Given the description of an element on the screen output the (x, y) to click on. 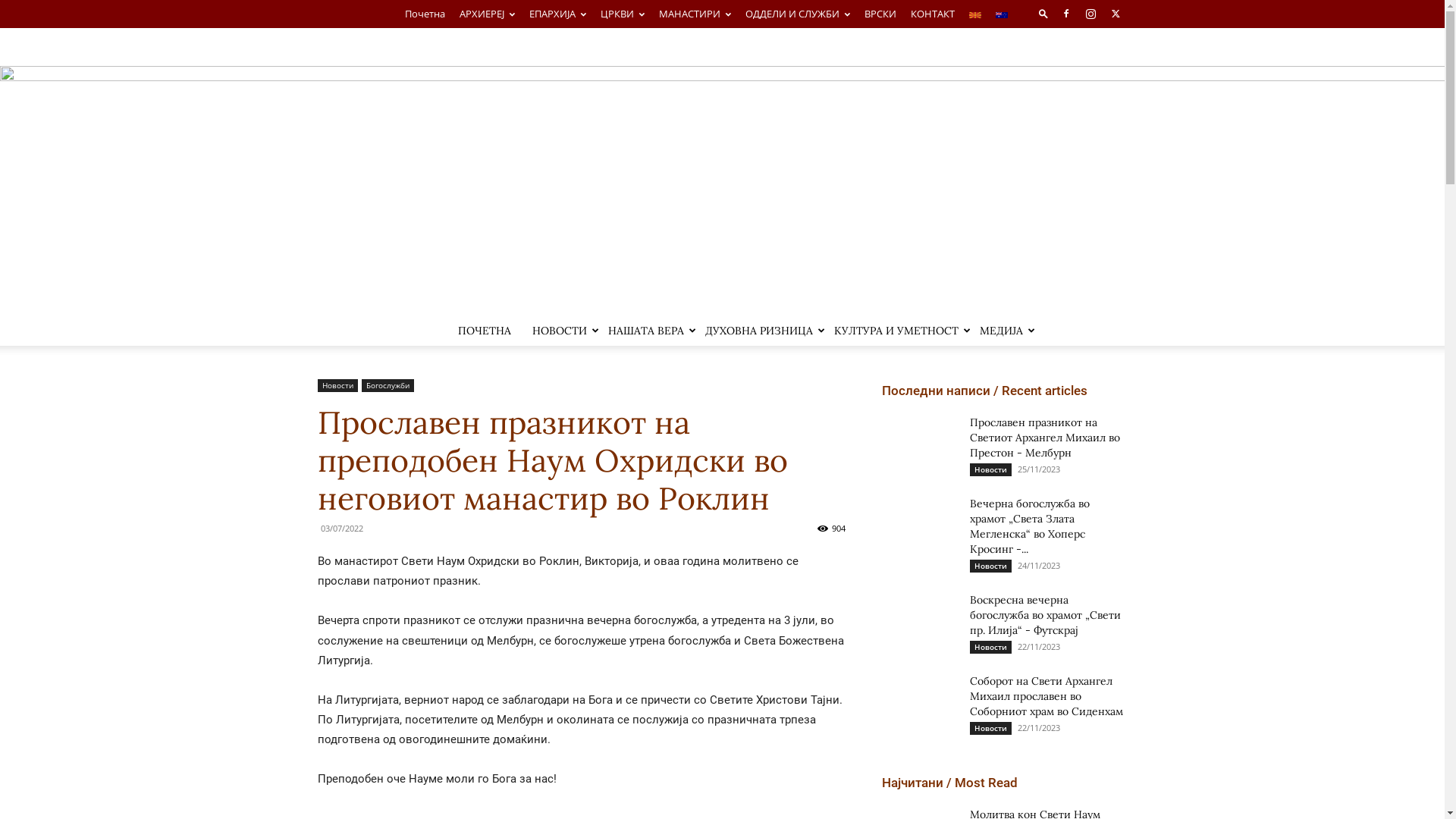
Search Element type: text (1085, 70)
Twitter Element type: hover (1115, 13)
Instagram Element type: hover (1090, 13)
Facebook Element type: hover (1065, 13)
